Given the description of an element on the screen output the (x, y) to click on. 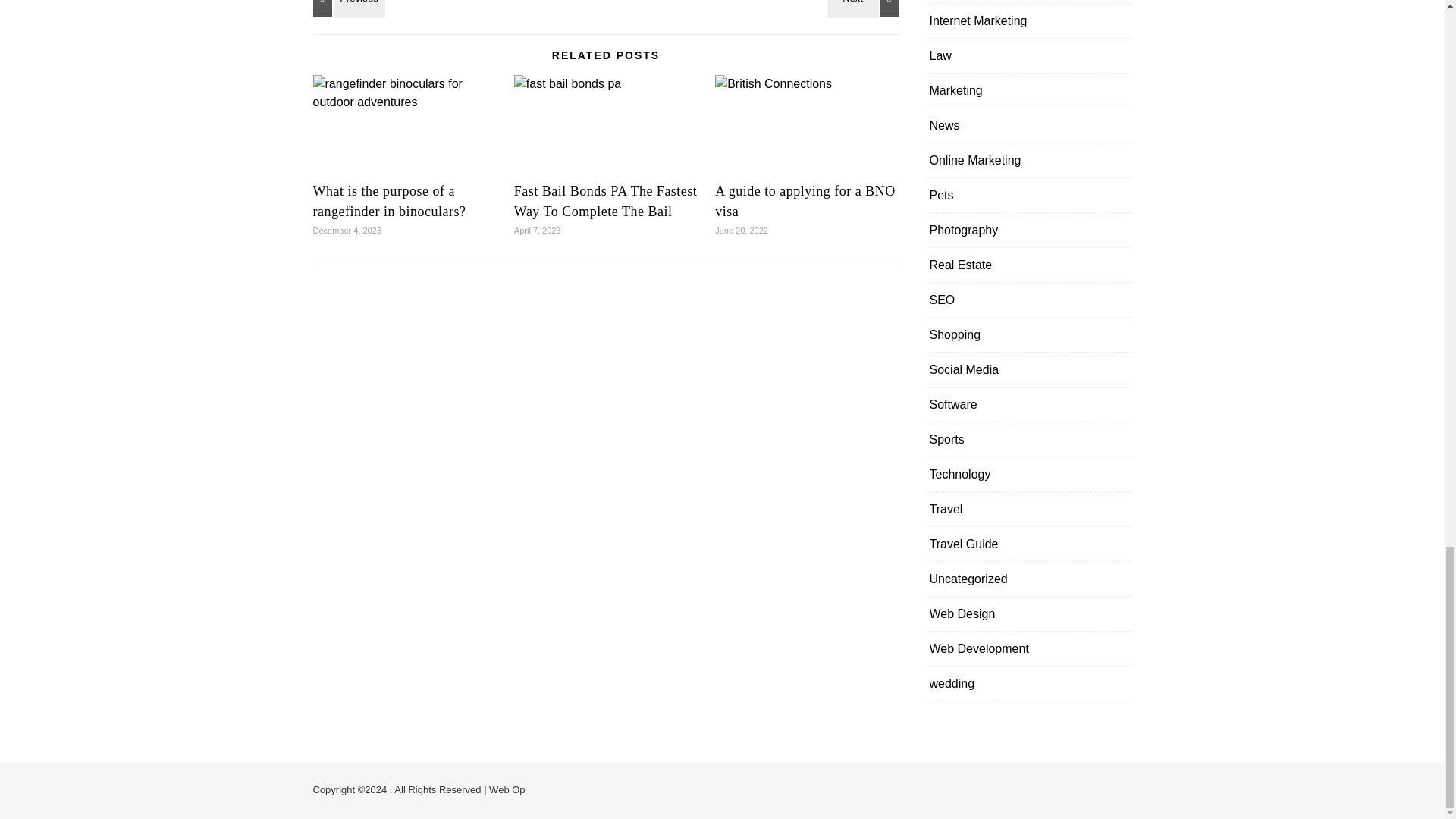
Fast Bail Bonds PA The Fastest Way To Complete The Bail (605, 201)
A guide to applying for a BNO visa (804, 201)
What is the purpose of a rangefinder in binoculars? (389, 201)
Ideas For Coming Up With the Perfect Massage Business Name (865, 8)
Great methods for termite control service around the house (346, 8)
